Given the description of an element on the screen output the (x, y) to click on. 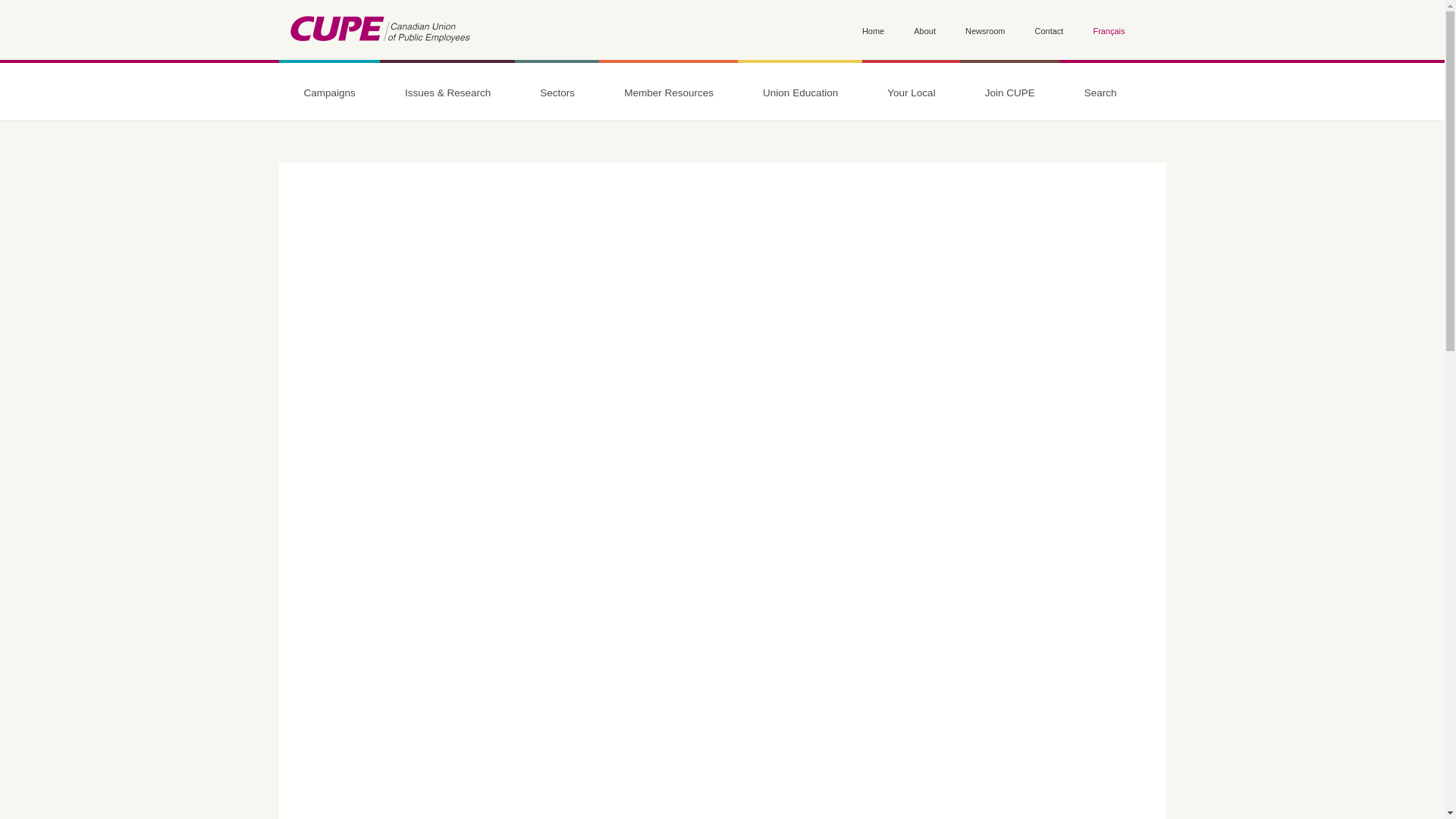
Newsroom (984, 31)
Search (1100, 92)
Your Local (910, 92)
Contact (1049, 31)
Home (872, 31)
Join CUPE (1009, 92)
Sectors (557, 92)
Search (300, 201)
Home (378, 31)
Union Education (800, 92)
